Given the description of an element on the screen output the (x, y) to click on. 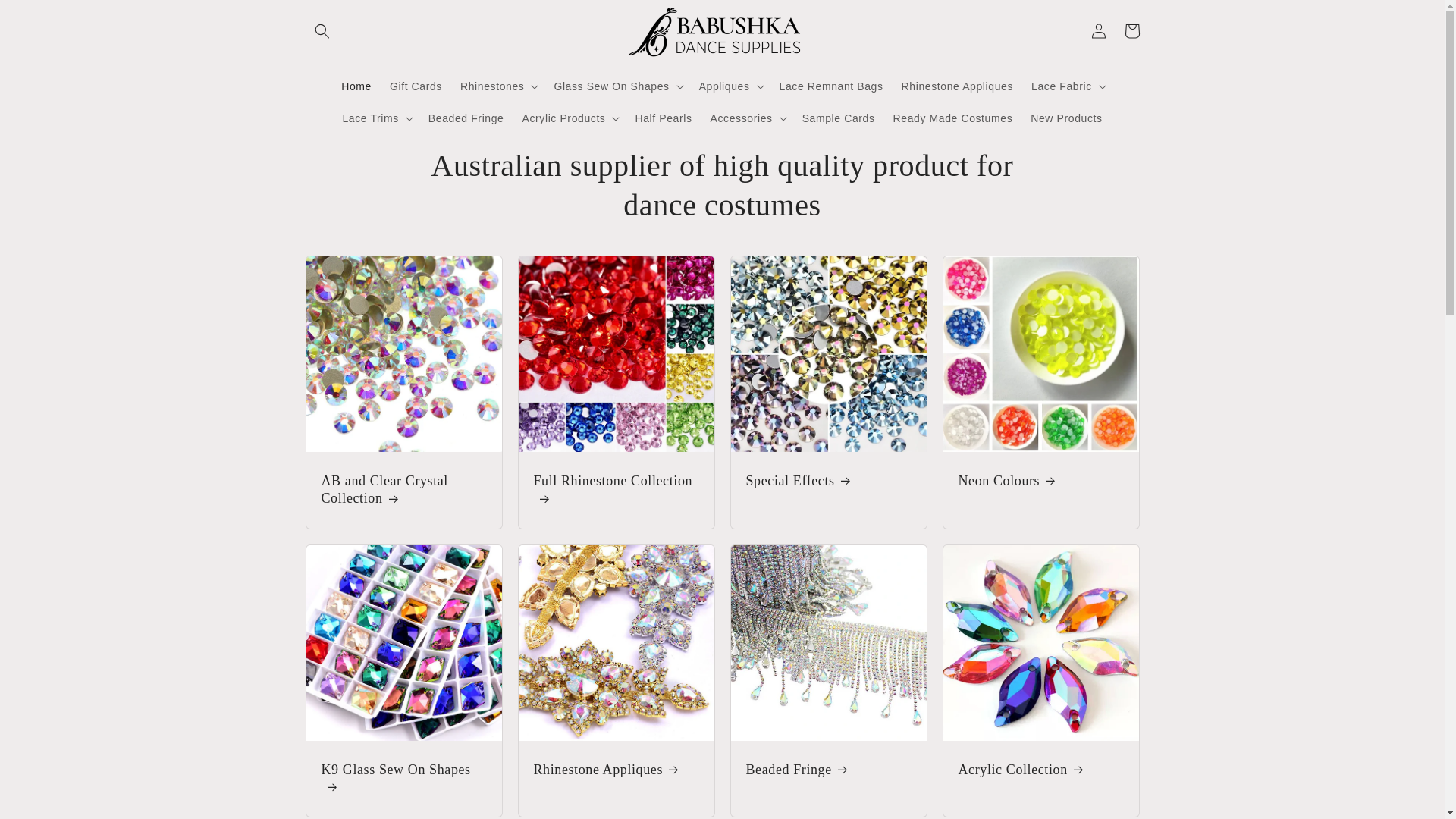
Skip to content (45, 17)
